Given the description of an element on the screen output the (x, y) to click on. 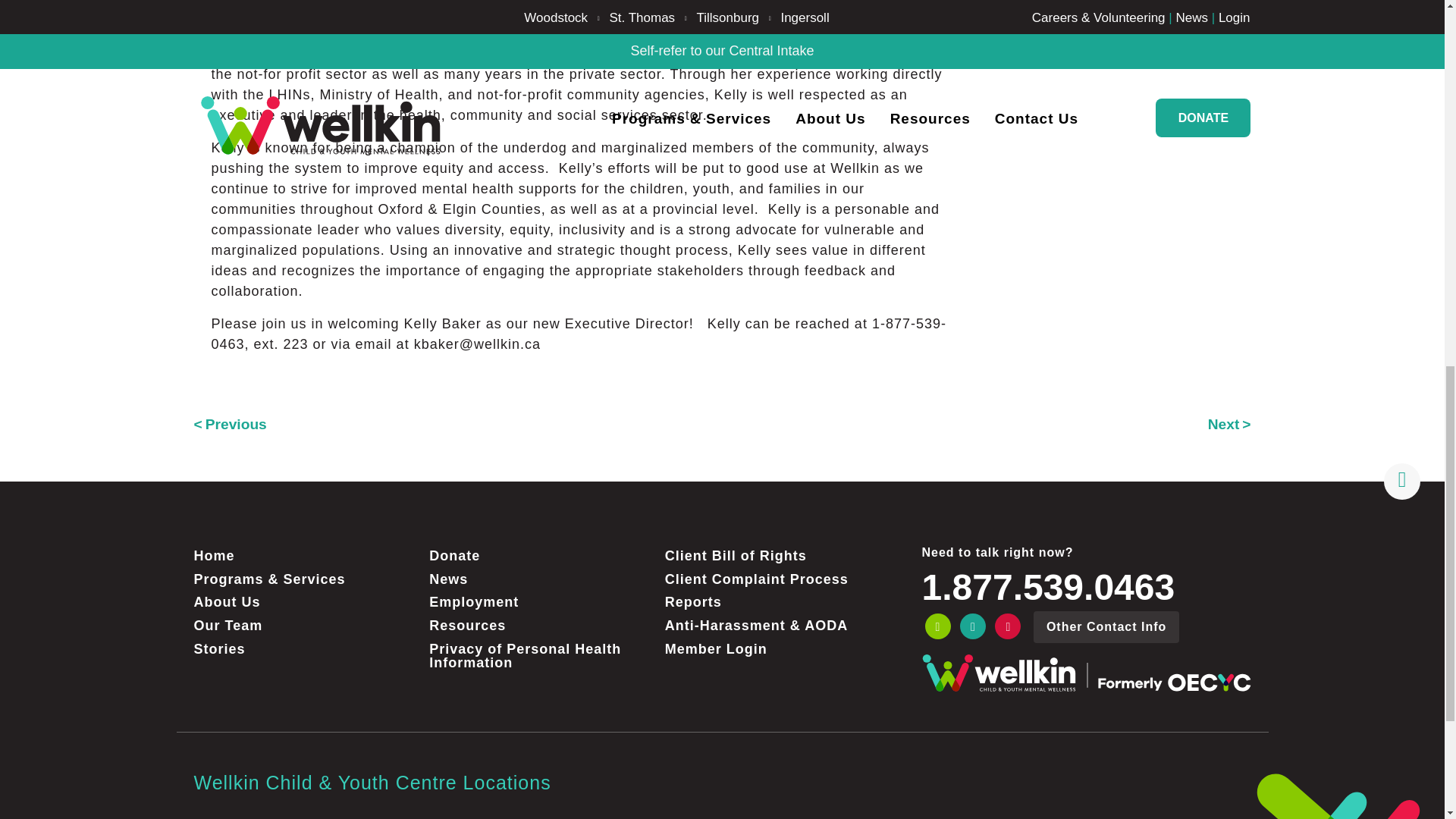
Home (304, 555)
Our Team (304, 626)
Next (1229, 424)
Previous (229, 424)
About Us (304, 602)
